Given the description of an element on the screen output the (x, y) to click on. 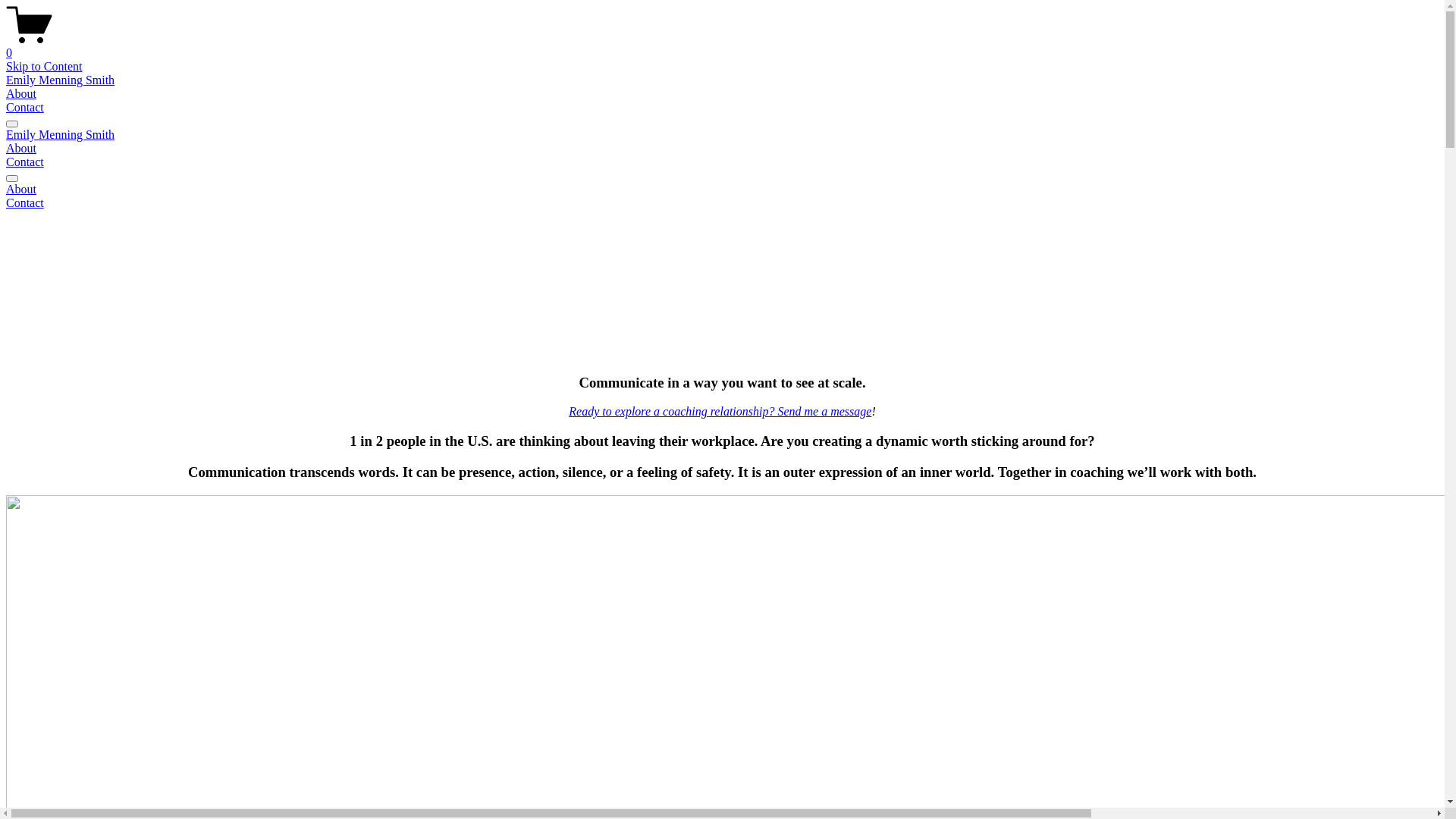
About Element type: text (722, 189)
Emily Menning Smith Element type: text (60, 79)
Skip to Content Element type: text (43, 65)
Ready to explore a coaching relationship? Send me a message Element type: text (719, 410)
Contact Element type: text (24, 106)
About Element type: text (21, 93)
Contact Element type: text (24, 161)
Emily Menning Smith Element type: text (60, 134)
About Element type: text (21, 147)
Contact Element type: text (24, 202)
0 Element type: text (722, 45)
